Given the description of an element on the screen output the (x, y) to click on. 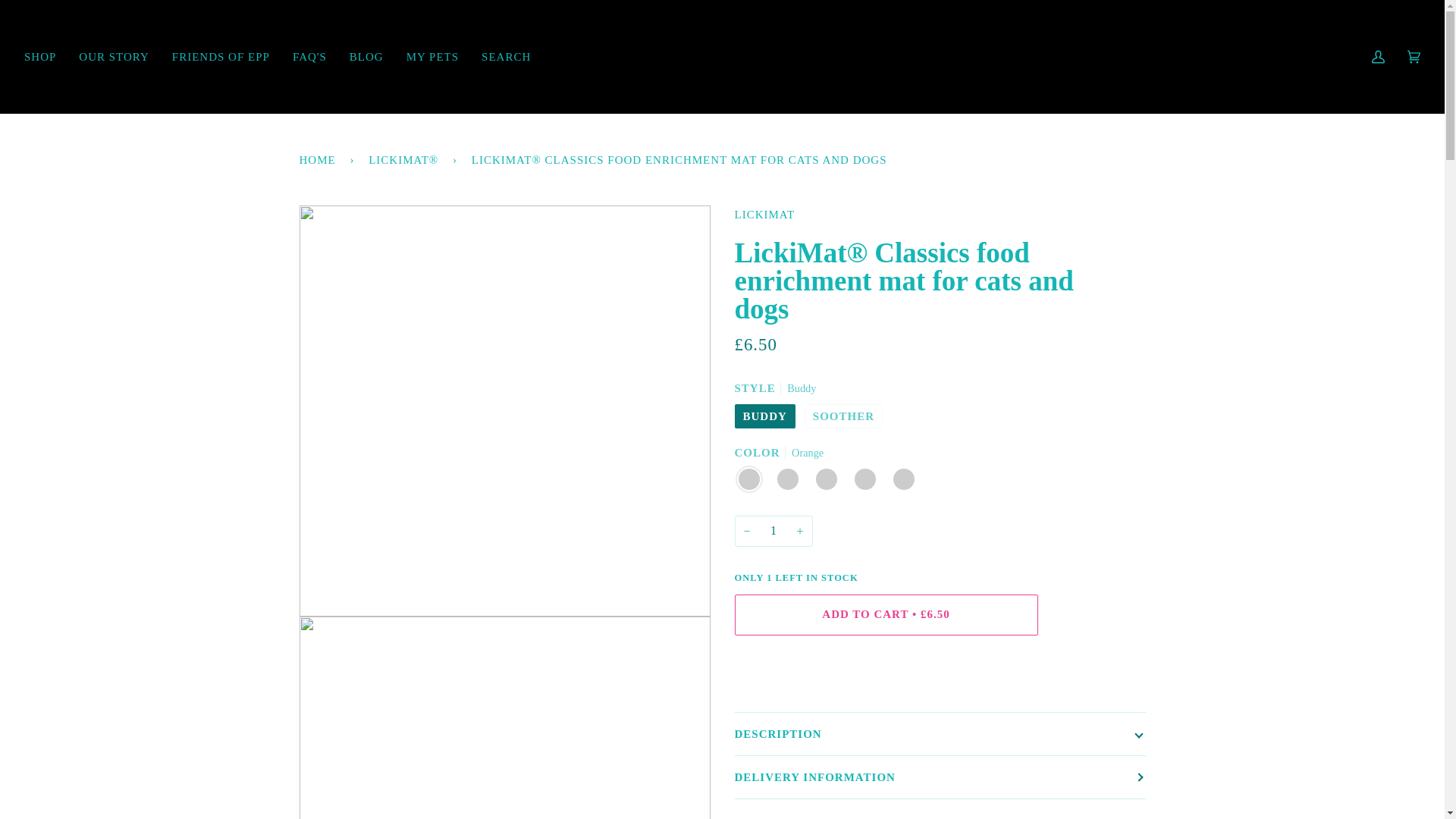
Back to the frontpage (319, 159)
FRIENDS OF EPP (220, 56)
1 (772, 531)
